Given the description of an element on the screen output the (x, y) to click on. 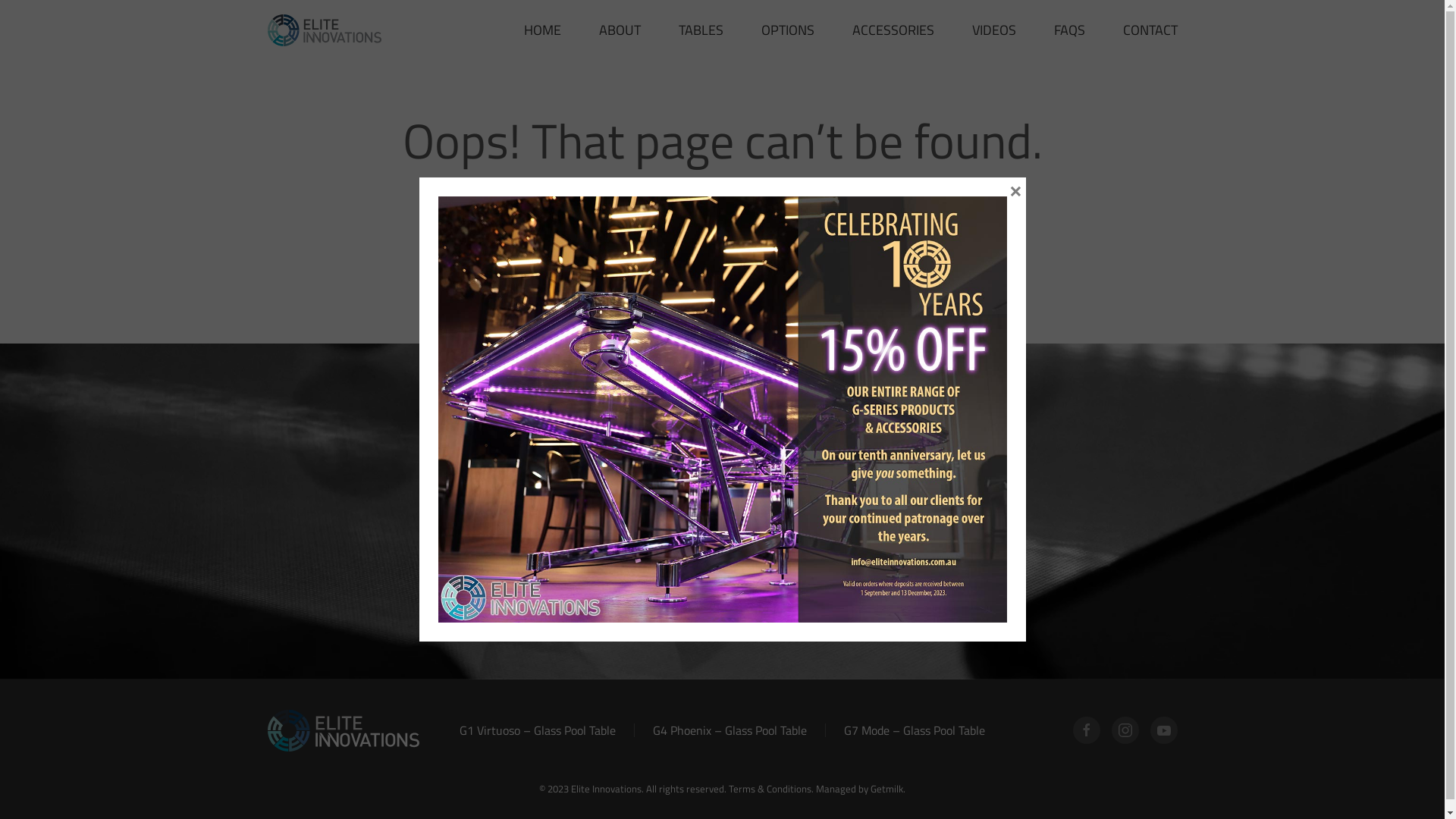
FAQS Element type: text (1069, 30)
Managed by Getmilk Element type: text (859, 788)
VIDEOS Element type: text (994, 30)
CONTACT Element type: text (1149, 30)
ACCESSORIES Element type: text (893, 30)
OPTIONS Element type: text (787, 30)
HOME Element type: text (541, 30)
TABLES Element type: text (699, 30)
Terms & Conditions Element type: text (769, 788)
CONTACT US Element type: text (722, 552)
ABOUT Element type: text (619, 30)
